Given the description of an element on the screen output the (x, y) to click on. 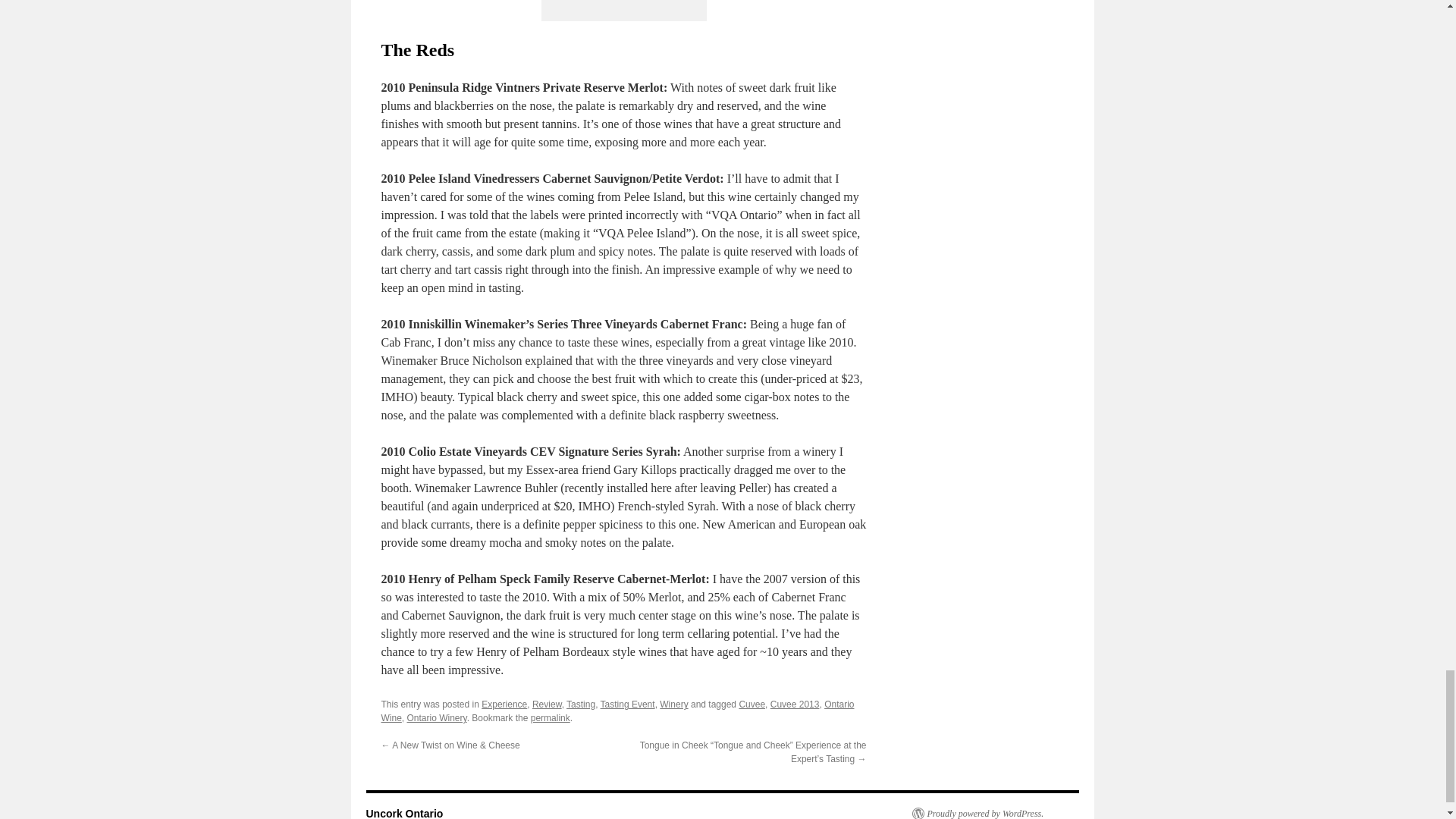
Ontario Winery (437, 717)
Tasting (580, 704)
Cuvee (751, 704)
Winery (673, 704)
Experience (504, 704)
Ontario Wine (616, 711)
Cuvee 2013 (794, 704)
Tasting Event (627, 704)
Review (547, 704)
permalink (550, 717)
